Given the description of an element on the screen output the (x, y) to click on. 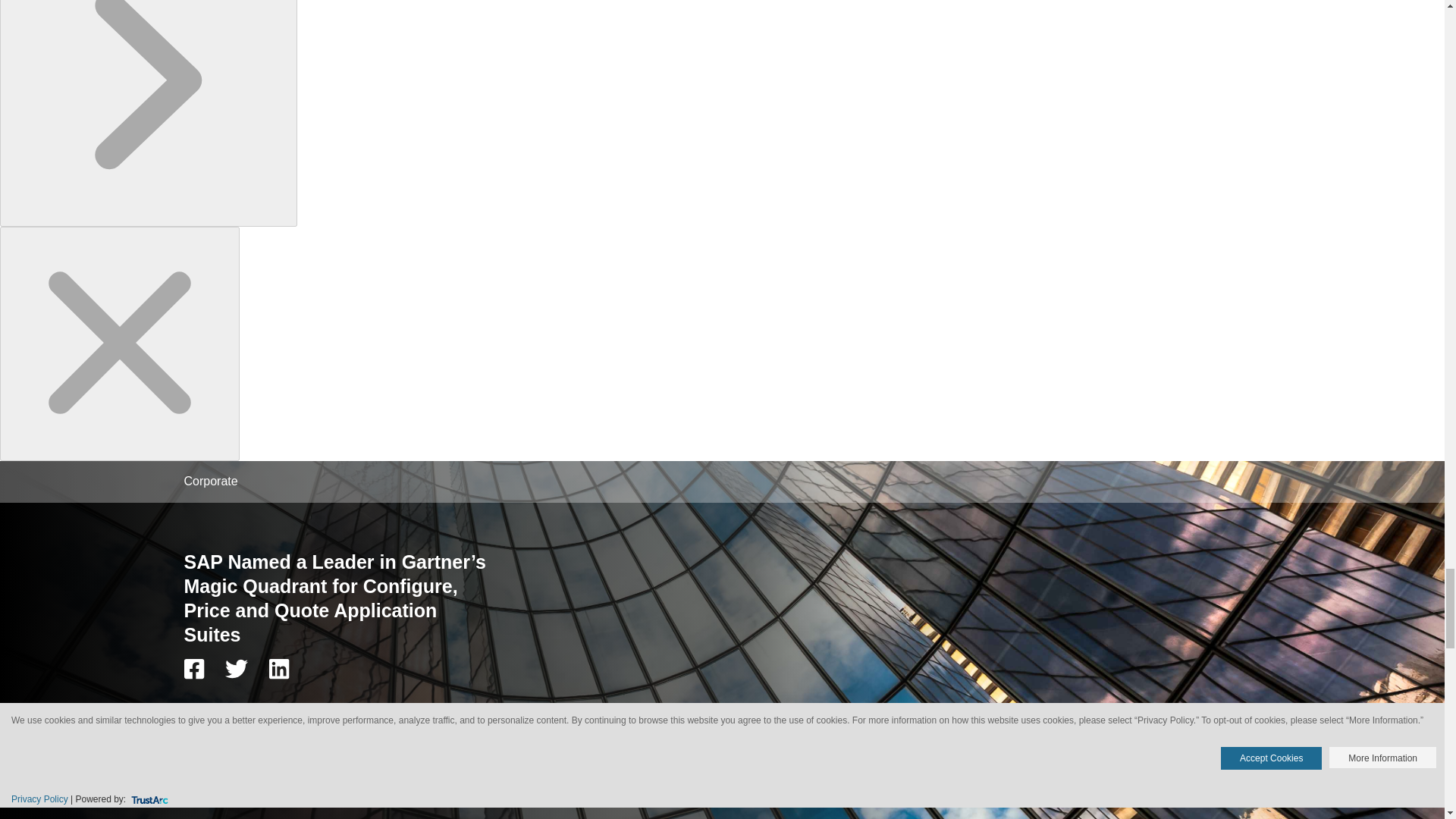
SAP News (260, 713)
Newsbyte (204, 713)
Posts by SAP News (260, 713)
Corporate (210, 481)
Corporate (210, 481)
